Given the description of an element on the screen output the (x, y) to click on. 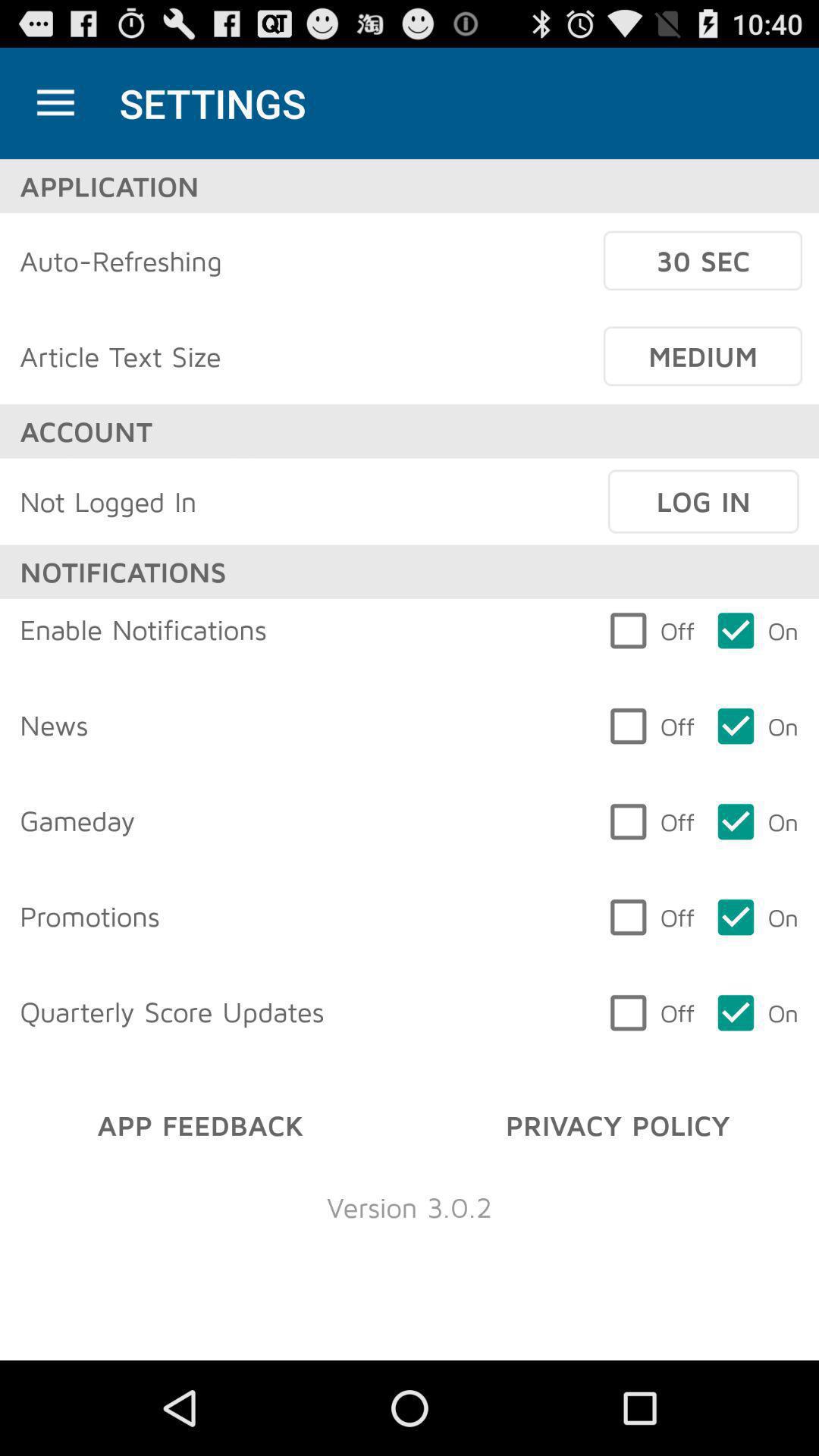
scroll until log in (703, 501)
